Given the description of an element on the screen output the (x, y) to click on. 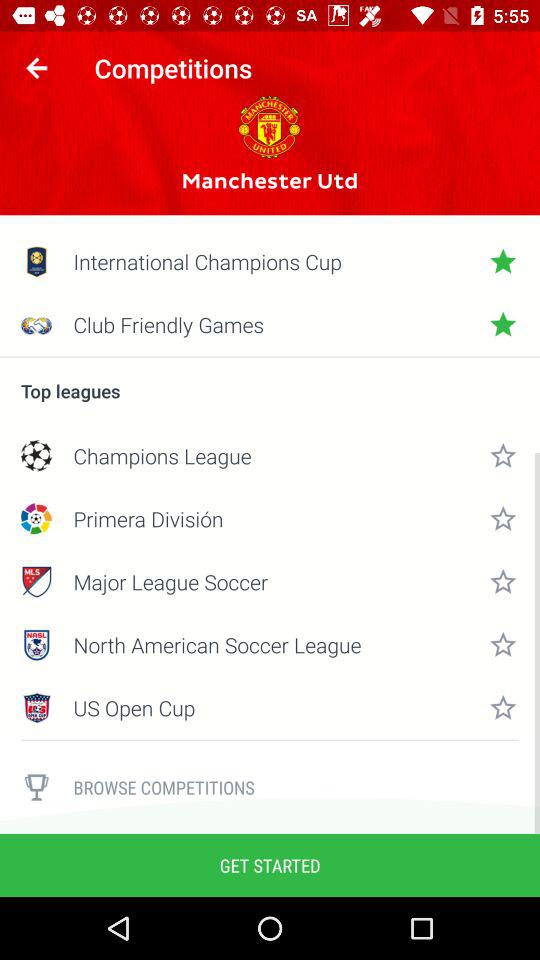
turn off item above the us open cup (269, 644)
